Given the description of an element on the screen output the (x, y) to click on. 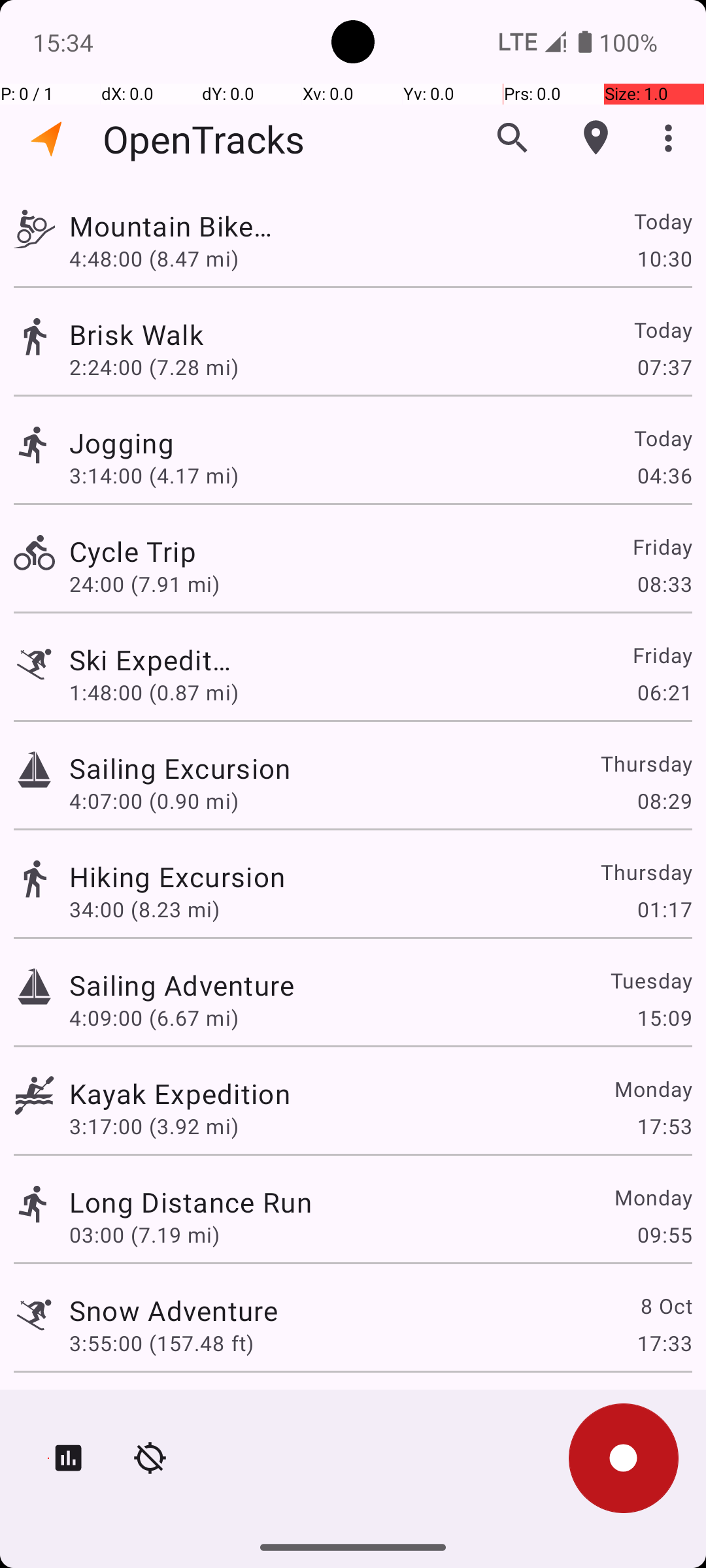
Mountain Bike Ride Element type: android.widget.TextView (181, 225)
4:48:00 (8.47 mi) Element type: android.widget.TextView (153, 258)
10:30 Element type: android.widget.TextView (664, 258)
Brisk Walk Element type: android.widget.TextView (179, 333)
2:24:00 (7.28 mi) Element type: android.widget.TextView (153, 366)
07:37 Element type: android.widget.TextView (664, 366)
Jogging Element type: android.widget.TextView (190, 442)
3:14:00 (4.17 mi) Element type: android.widget.TextView (153, 475)
04:36 Element type: android.widget.TextView (664, 475)
Cycle Trip Element type: android.widget.TextView (173, 550)
24:00 (7.91 mi) Element type: android.widget.TextView (161, 583)
08:33 Element type: android.widget.TextView (664, 583)
Ski Expedition Element type: android.widget.TextView (152, 659)
1:48:00 (0.87 mi) Element type: android.widget.TextView (153, 692)
06:21 Element type: android.widget.TextView (664, 692)
Sailing Excursion Element type: android.widget.TextView (179, 767)
4:07:00 (0.90 mi) Element type: android.widget.TextView (153, 800)
08:29 Element type: android.widget.TextView (664, 800)
Hiking Excursion Element type: android.widget.TextView (176, 876)
34:00 (8.23 mi) Element type: android.widget.TextView (144, 909)
01:17 Element type: android.widget.TextView (664, 909)
Sailing Adventure Element type: android.widget.TextView (181, 984)
4:09:00 (6.67 mi) Element type: android.widget.TextView (153, 1017)
15:09 Element type: android.widget.TextView (664, 1017)
Kayak Expedition Element type: android.widget.TextView (179, 1092)
3:17:00 (3.92 mi) Element type: android.widget.TextView (153, 1125)
17:53 Element type: android.widget.TextView (664, 1125)
Long Distance Run Element type: android.widget.TextView (190, 1201)
03:00 (7.19 mi) Element type: android.widget.TextView (144, 1234)
09:55 Element type: android.widget.TextView (664, 1234)
Snow Adventure Element type: android.widget.TextView (173, 1309)
3:55:00 (157.48 ft) Element type: android.widget.TextView (161, 1342)
17:33 Element type: android.widget.TextView (664, 1342)
Road Cycling Element type: android.widget.TextView (152, 1408)
6 Oct Element type: android.widget.TextView (665, 1408)
